Given the description of an element on the screen output the (x, y) to click on. 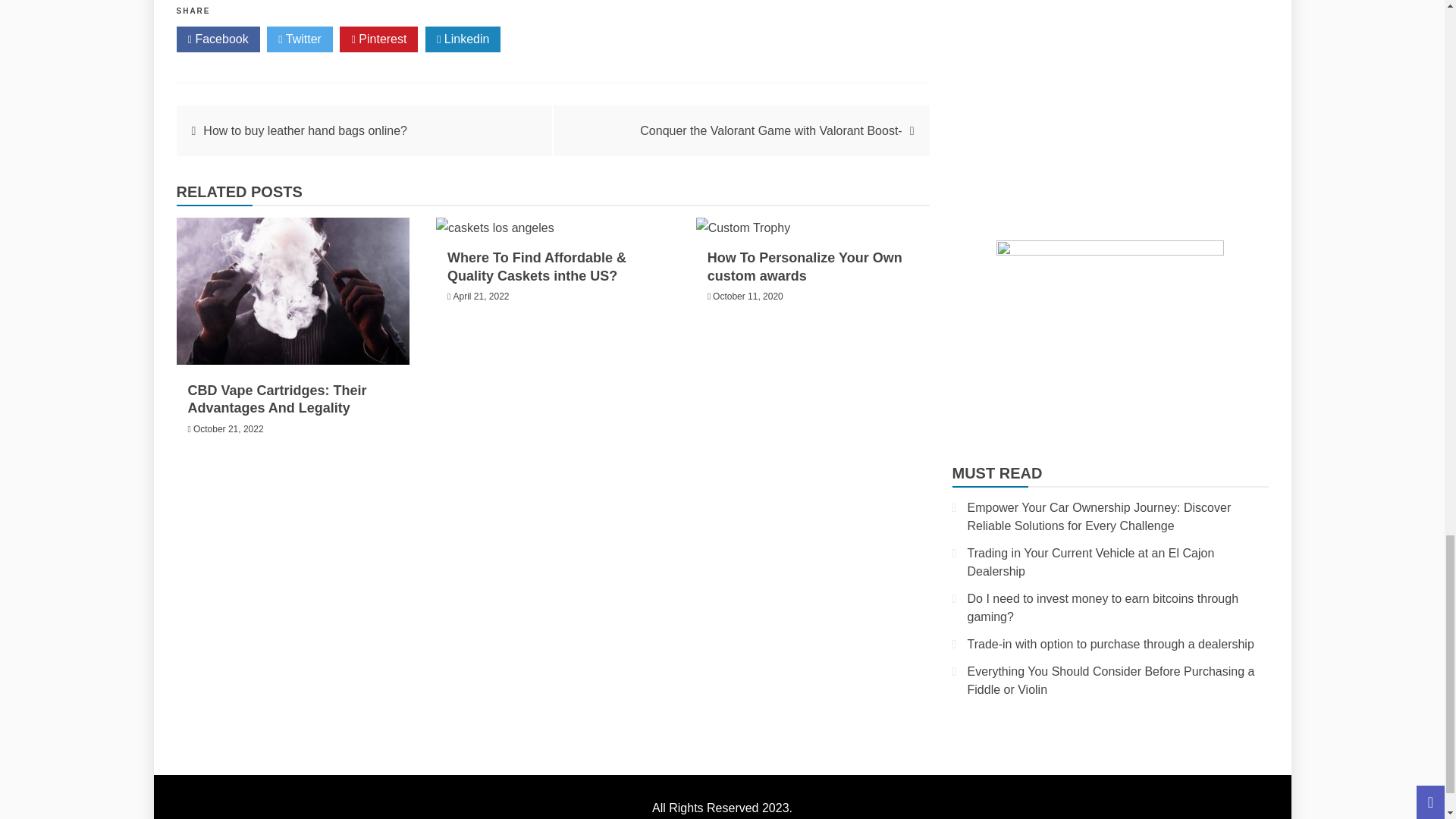
Pinterest (378, 39)
Linkedin (462, 39)
CBD Vape Cartridges: Their Advantages And Legality (276, 399)
October 21, 2022 (228, 429)
Conquer the Valorant Game with Valorant Boost- (770, 130)
Twitter (299, 39)
How to buy leather hand bags online? (305, 130)
April 21, 2022 (480, 296)
Facebook (217, 39)
October 11, 2020 (748, 296)
